Given the description of an element on the screen output the (x, y) to click on. 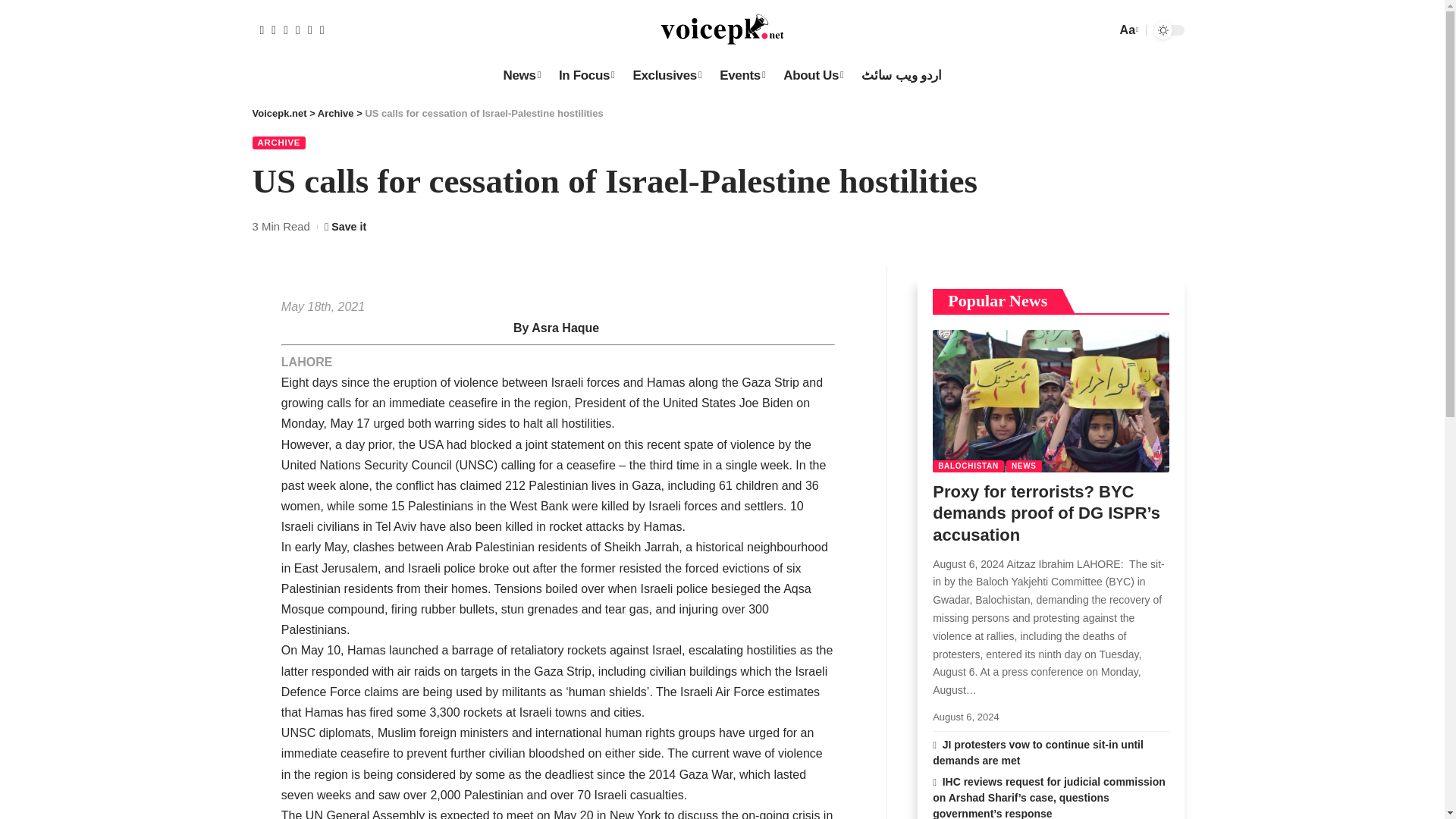
Aa (1127, 29)
Go to Voicepk.net. (278, 112)
Voicepk.net (722, 30)
In Focus (587, 75)
About Us (812, 75)
Exclusives (666, 75)
Events (742, 75)
News (520, 75)
Go to the Archive Category archives. (335, 112)
